Given the description of an element on the screen output the (x, y) to click on. 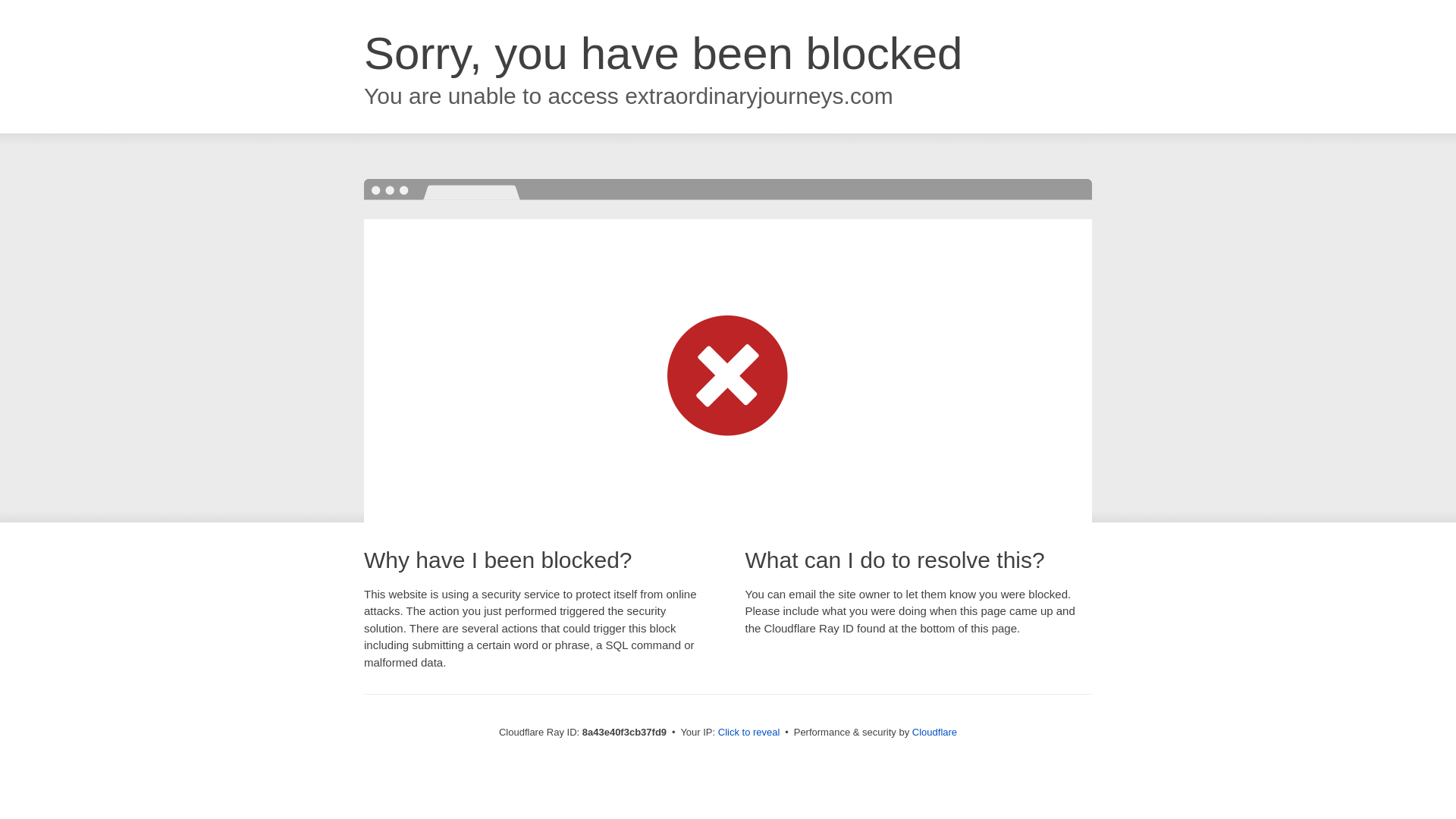
Cloudflare (934, 731)
Click to reveal (748, 732)
